Given the description of an element on the screen output the (x, y) to click on. 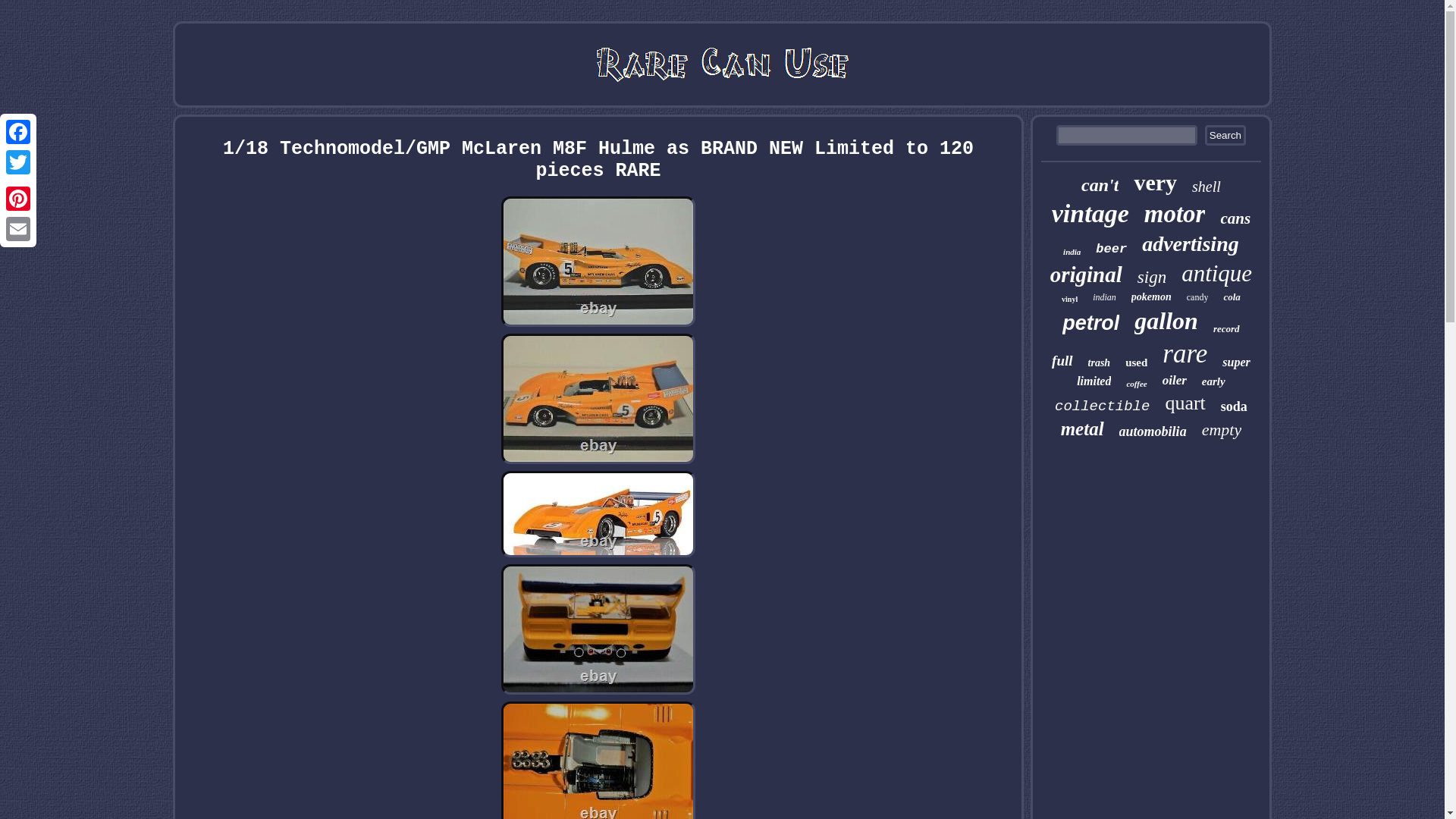
shell (1206, 186)
advertising (1190, 243)
Search (1225, 135)
original (1085, 274)
Twitter (17, 162)
vintage (1090, 213)
india (1071, 251)
Pinterest (17, 198)
Email (17, 228)
Search (1225, 135)
beer (1111, 248)
Facebook (17, 132)
sign (1151, 277)
can't (1099, 185)
very (1155, 182)
